Given the description of an element on the screen output the (x, y) to click on. 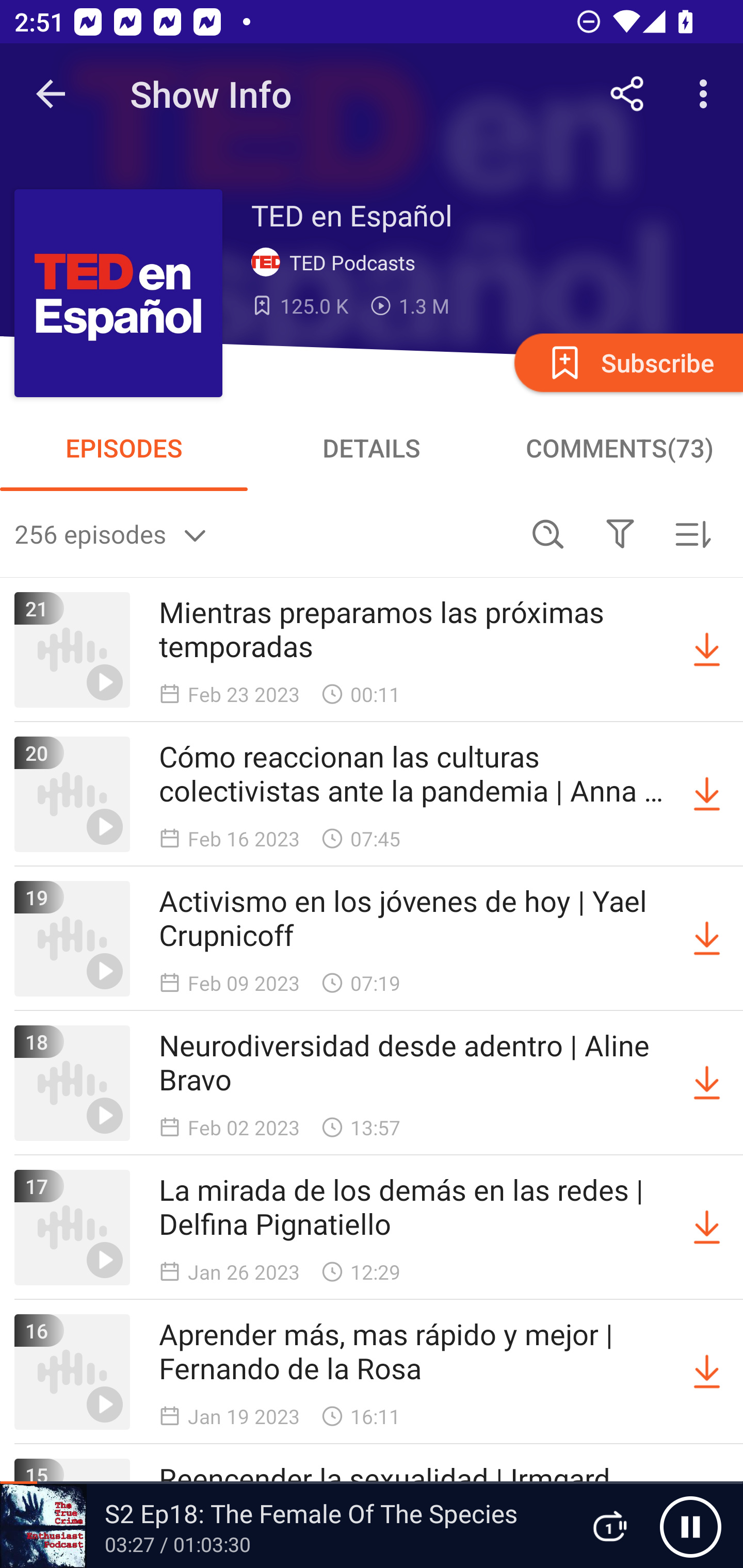
Navigate up (50, 93)
Share (626, 93)
More options (706, 93)
TED Podcasts (337, 262)
Subscribe (627, 361)
EPISODES (123, 447)
DETAILS (371, 447)
COMMENTS(73) (619, 447)
256 episodes  (262, 533)
 Search (547, 533)
 (619, 533)
 Sorted by newest first (692, 533)
Download (706, 649)
Download (706, 793)
Download (706, 939)
Download (706, 1083)
Download (706, 1227)
Download (706, 1371)
Pause (690, 1526)
